Given the description of an element on the screen output the (x, y) to click on. 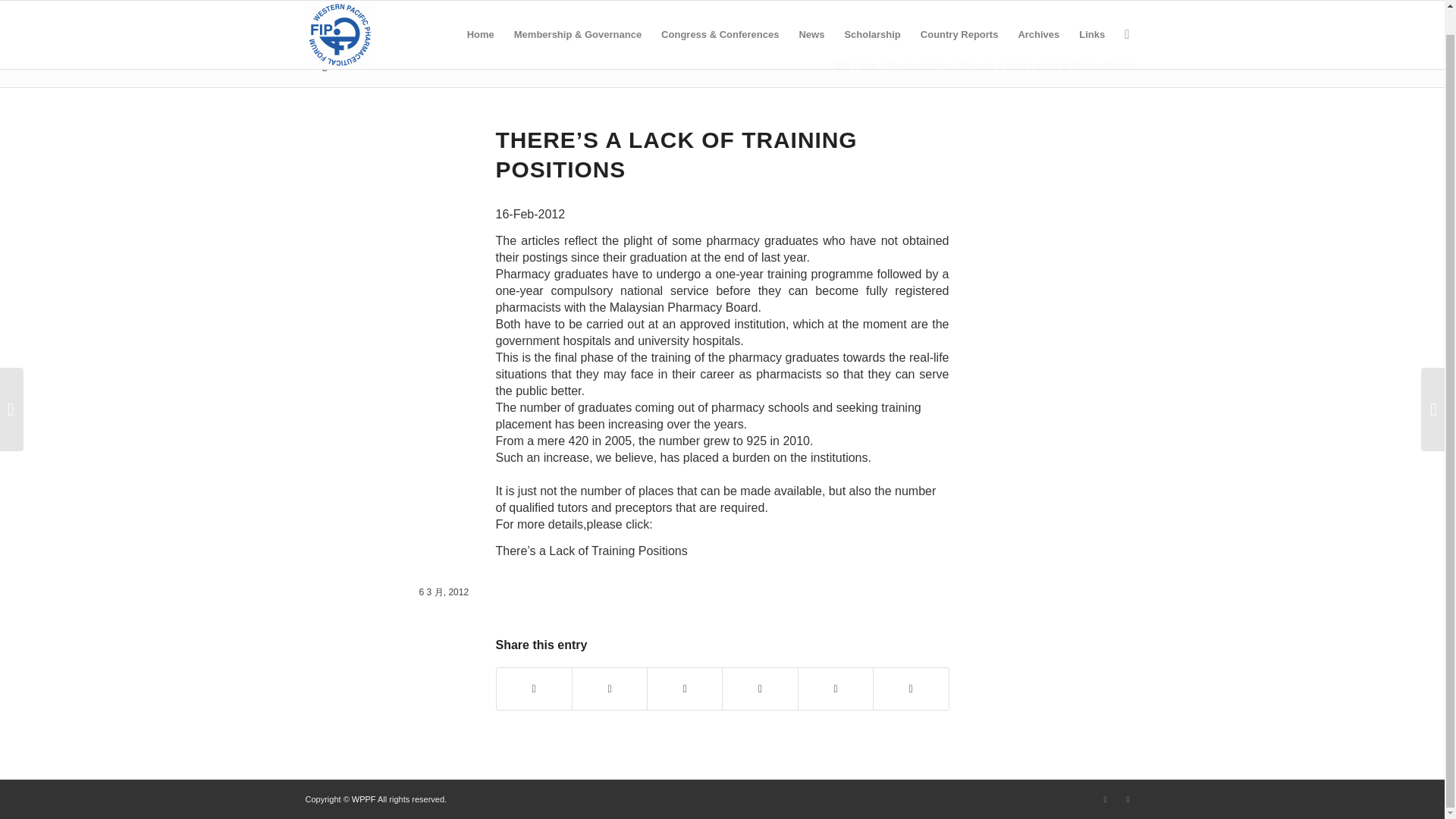
Permanent Link: blog (315, 64)
blog (315, 64)
blog (869, 65)
Country Reports (960, 22)
blog (869, 65)
Twitter (1104, 798)
Archives (1037, 22)
Home (480, 22)
Malaysia (977, 65)
WPPF (841, 65)
Facebook (1127, 798)
Scholarship (872, 22)
Links (1091, 22)
Country Activities (919, 65)
News (811, 22)
